Given the description of an element on the screen output the (x, y) to click on. 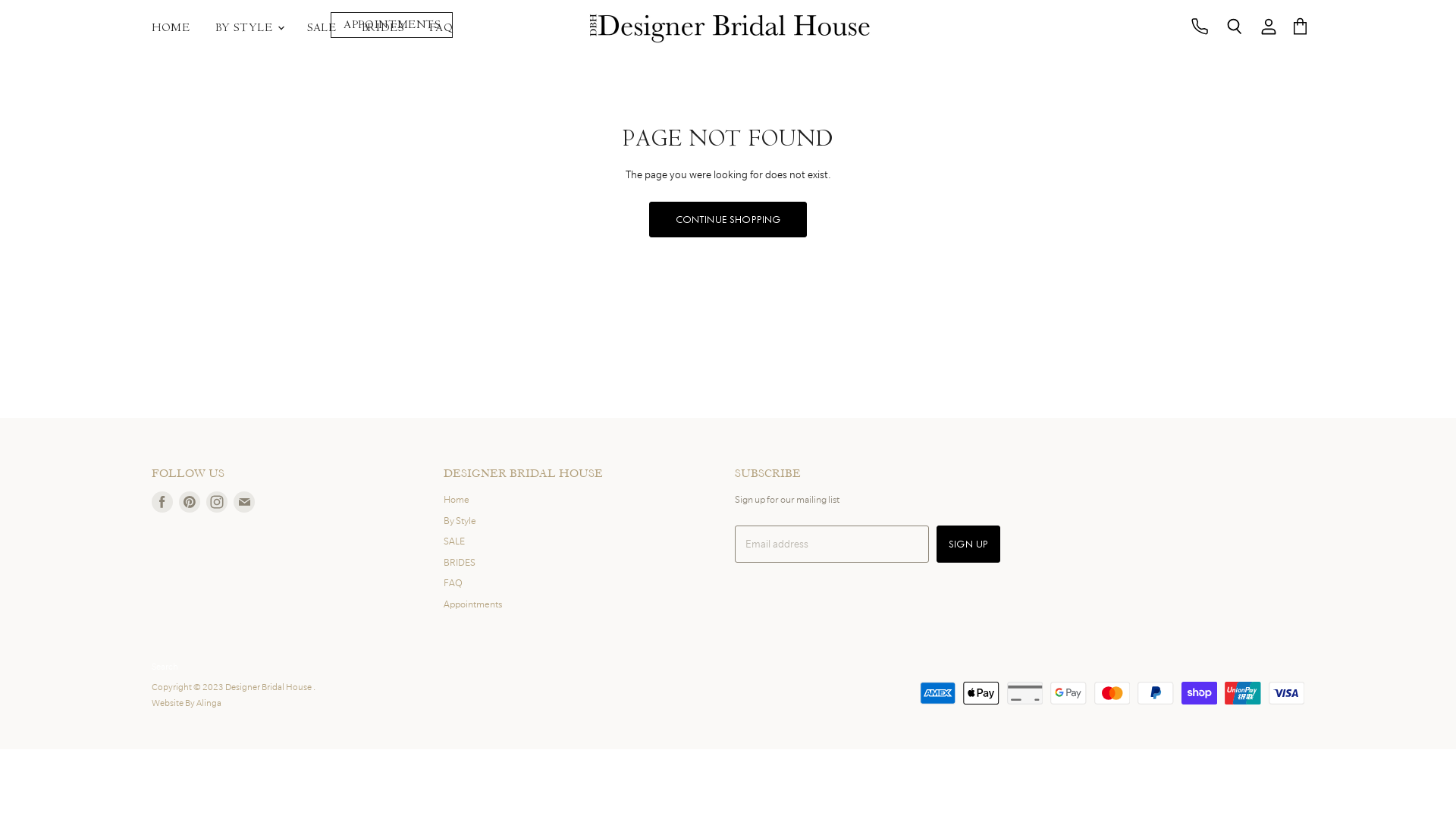
Call Us Element type: text (1199, 26)
BY STYLE Element type: text (248, 27)
Find us on Instagram Element type: text (216, 501)
Alinga Element type: text (208, 702)
Home Element type: text (456, 499)
Find us on E-mail Element type: text (243, 501)
Find us on Pinterest Element type: text (189, 501)
FAQ Element type: text (440, 27)
Appointments Element type: text (472, 603)
APPOINTMENTS Element type: text (391, 25)
SALE Element type: text (321, 27)
BRIDES Element type: text (459, 561)
Search Element type: text (1234, 26)
Find us on Facebook Element type: text (161, 501)
Search Element type: text (164, 666)
CONTINUE SHOPPING Element type: text (728, 219)
FAQ Element type: text (452, 582)
BRIDES Element type: text (382, 27)
By Style Element type: text (459, 520)
SALE Element type: text (453, 540)
View cart Element type: text (1299, 26)
SIGN UP Element type: text (968, 543)
HOME Element type: text (170, 27)
View account Element type: text (1268, 26)
